Given the description of an element on the screen output the (x, y) to click on. 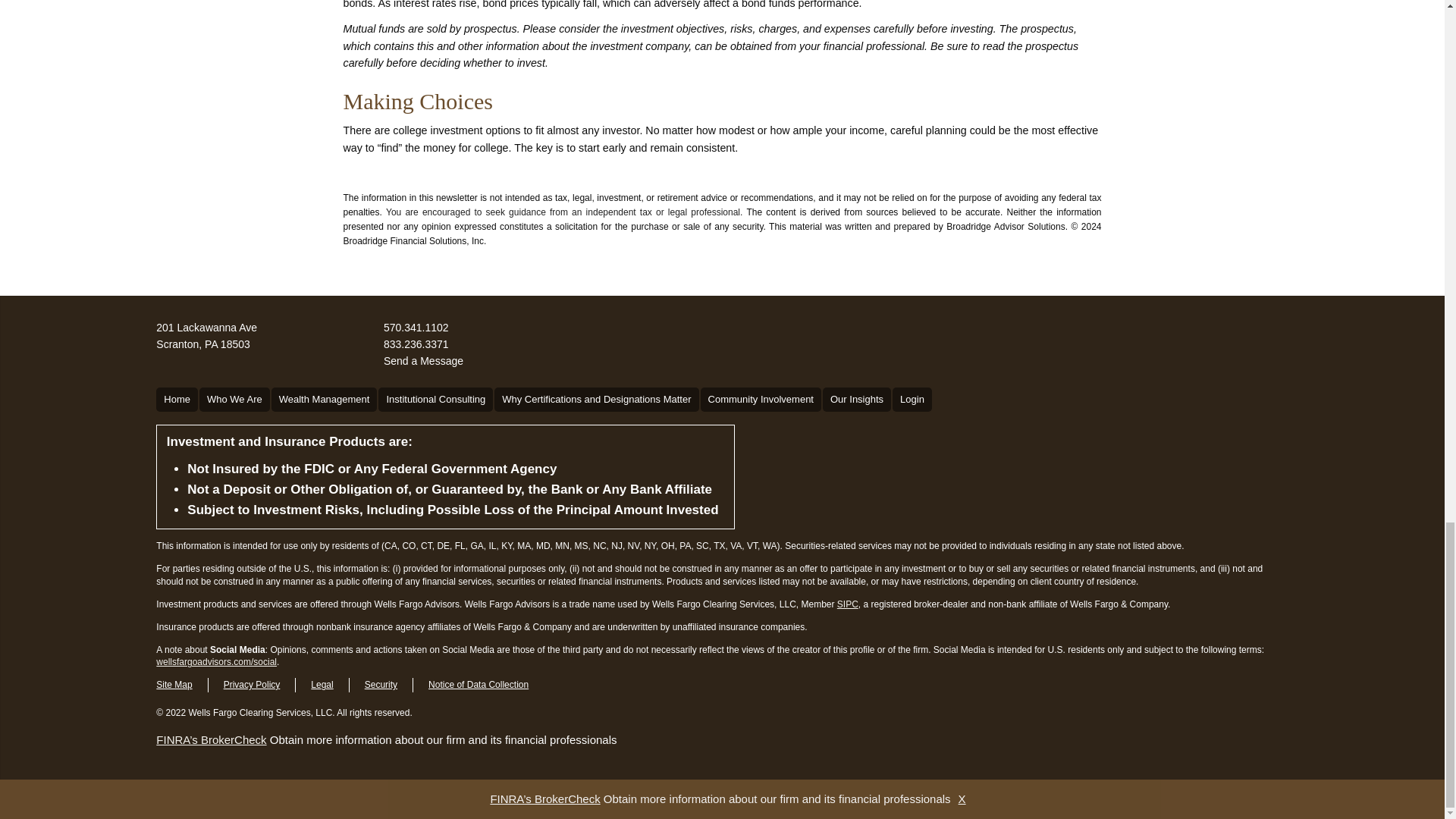
Privacy Policy (252, 685)
Legal (322, 685)
Why Certifications and Designations Matter (596, 399)
Send a Message (423, 360)
570.341.1102 (416, 327)
SIPC (848, 604)
Institutional Consulting (435, 399)
Who We Are (234, 399)
Home (176, 399)
833.236.3371 (416, 343)
Community Involvement (206, 335)
Site Map (760, 399)
Login (173, 685)
Our Insights (911, 399)
